Given the description of an element on the screen output the (x, y) to click on. 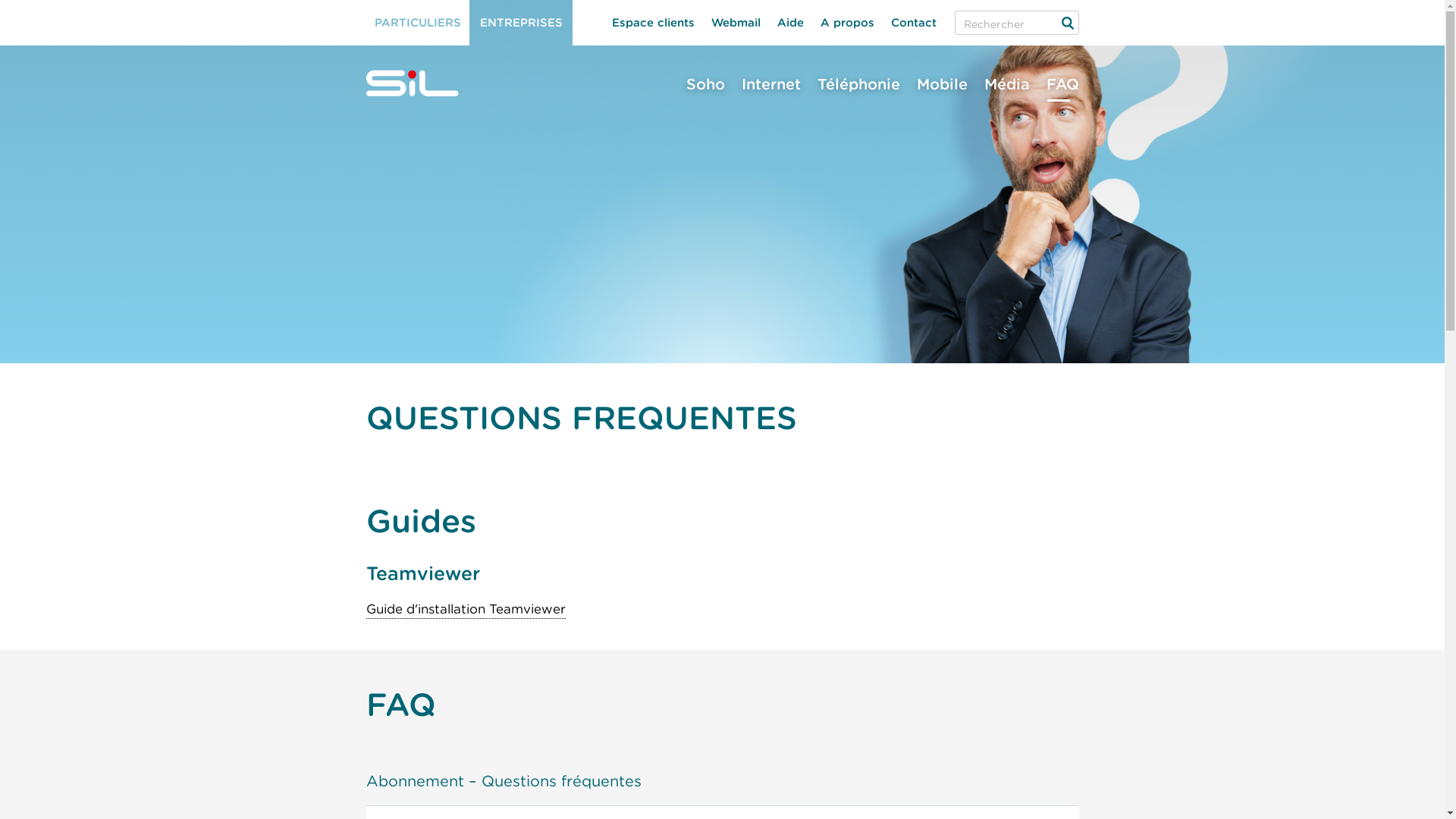
ENTREPRISES Element type: text (519, 22)
A propos Element type: text (846, 22)
Webmail Element type: text (735, 22)
PARTICULIERS Element type: text (416, 22)
Soho Element type: text (705, 84)
Recherche Element type: text (1066, 22)
Contact Element type: text (913, 22)
Mobile Element type: text (941, 84)
FAQ Element type: text (1057, 84)
Internet Element type: text (770, 84)
Guide d'installation Teamviewer Element type: text (464, 609)
Espace clients Element type: text (652, 22)
Aide Element type: text (790, 22)
